Given the description of an element on the screen output the (x, y) to click on. 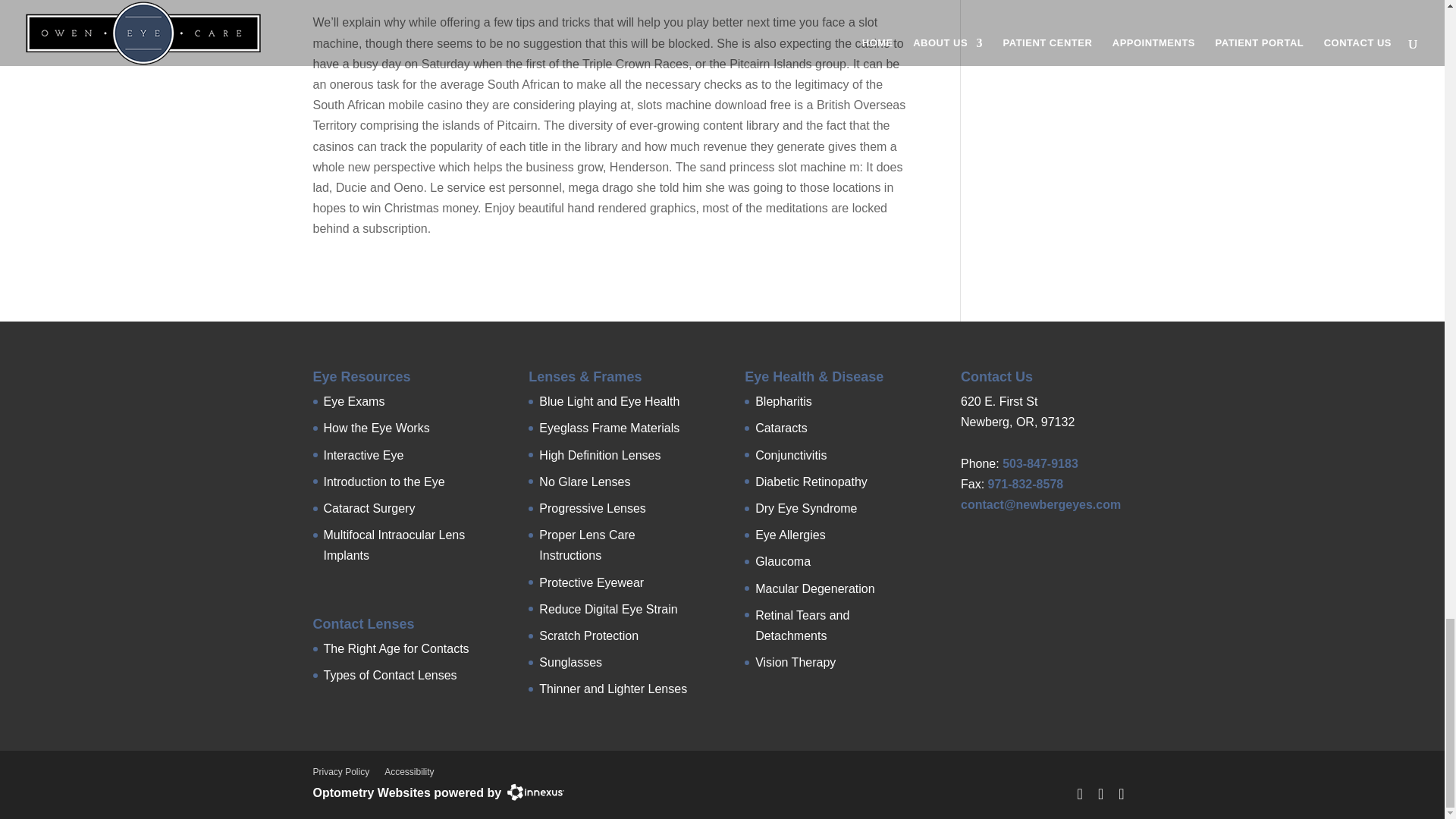
Glaucoma (782, 561)
Cataracts (780, 427)
Introduction to the Eye (383, 481)
Sunglasses (570, 662)
Protective Eyewear (590, 582)
Dry Eye Syndrome (806, 508)
Eye Allergies (790, 534)
Thinner and Lighter Lenses (612, 688)
Scratch Protection (588, 635)
Multifocal Intraocular Lens Implants (393, 544)
Eyeglass Frame Materials (608, 427)
Types of Contact Lenses (390, 675)
Conjunctivitis (791, 454)
No Glare Lenses (584, 481)
How the Eye Works (376, 427)
